Given the description of an element on the screen output the (x, y) to click on. 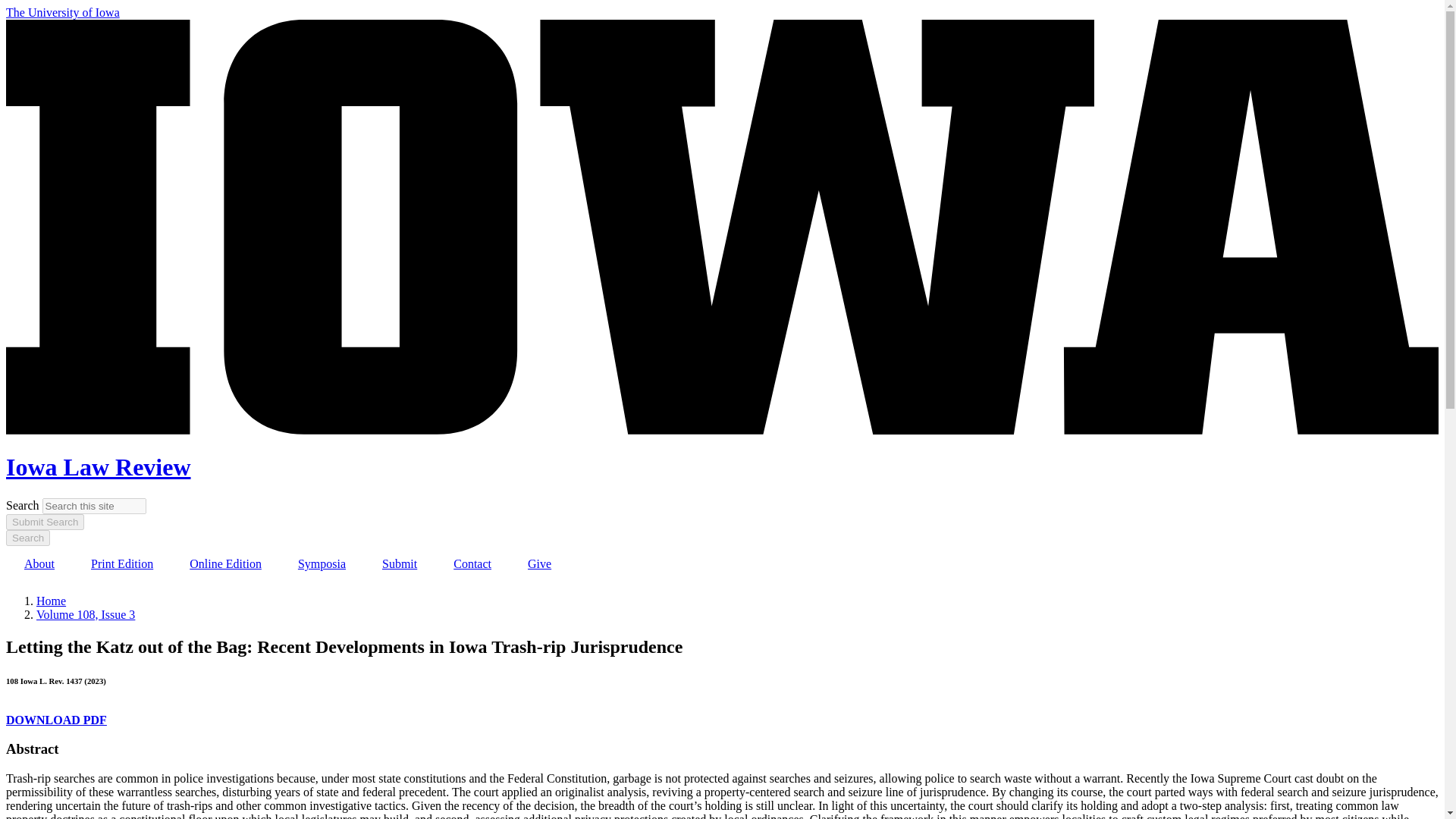
Submit Search (44, 521)
Search (27, 537)
Contact (472, 564)
Symposia (321, 564)
Print Edition (121, 564)
DOWNLOAD PDF (55, 719)
Give (539, 564)
Submit (399, 564)
Home (50, 600)
Online Edition (225, 564)
About (38, 564)
Iowa Law Review (97, 466)
Volume 108, Issue 3 (85, 614)
